Given the description of an element on the screen output the (x, y) to click on. 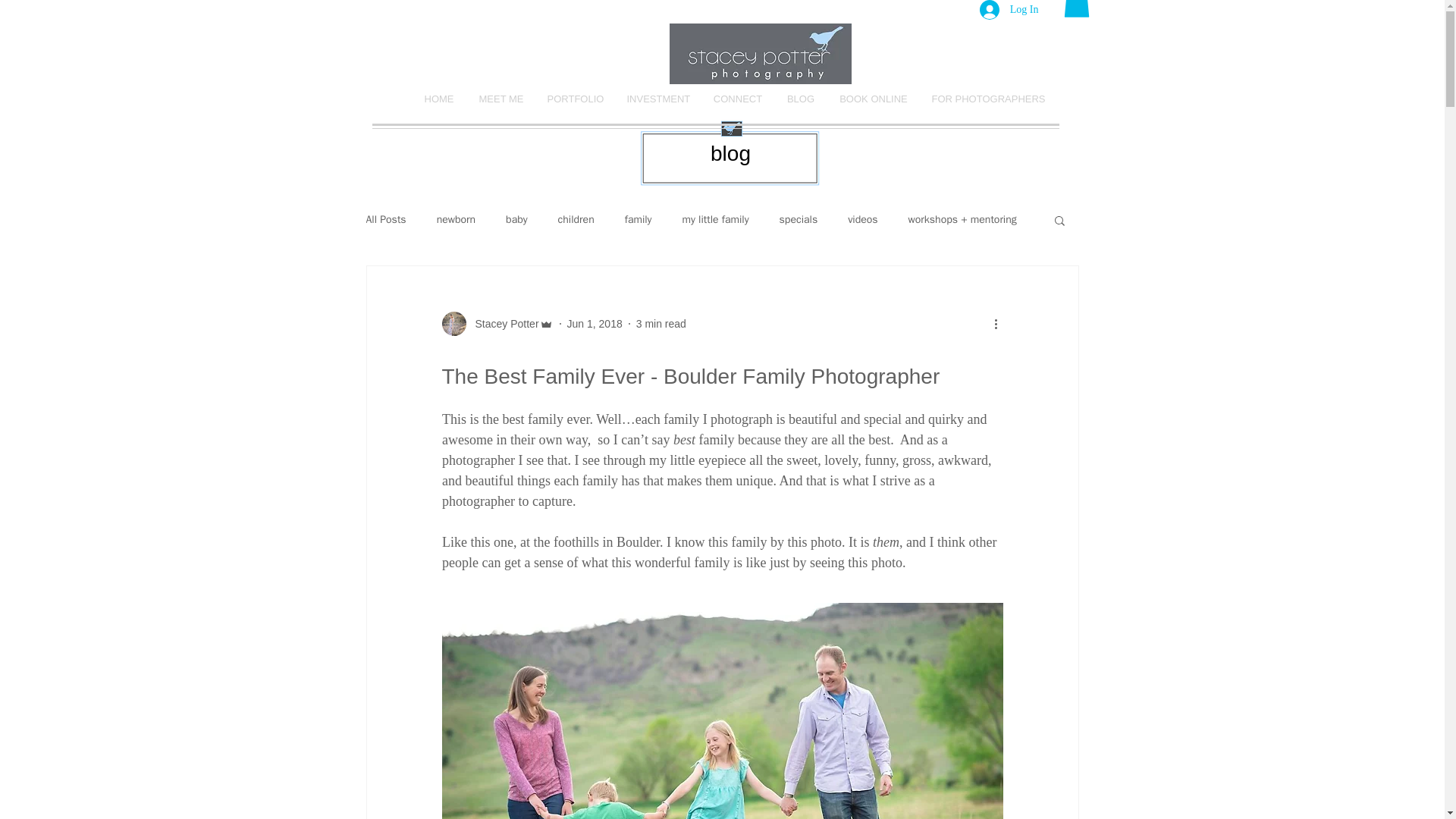
Log In (1009, 12)
Jun 1, 2018 (595, 322)
Stacey Potter (501, 323)
MEET ME (501, 98)
children (575, 219)
specials (798, 219)
videos (862, 219)
baby (516, 219)
my little family (714, 219)
All Posts (385, 219)
PORTFOLIO (574, 98)
Stacey Potter (497, 323)
family (638, 219)
3 min read (660, 322)
HOME (437, 98)
